Given the description of an element on the screen output the (x, y) to click on. 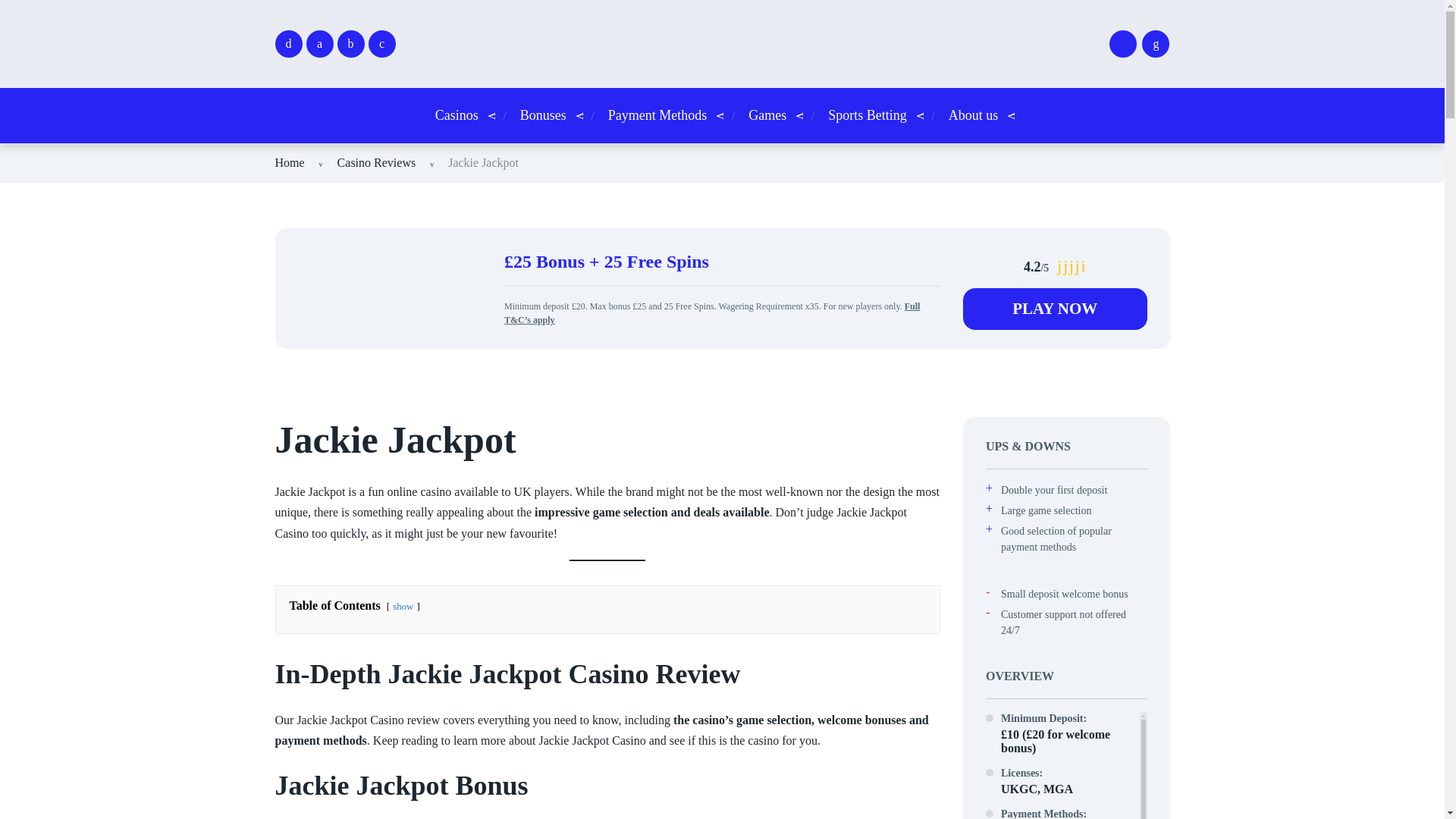
Bonuses (542, 115)
Jackie Jackpot (483, 162)
Home (289, 162)
Games (767, 115)
Casino Reviews (376, 162)
Casinos (457, 115)
Payment Methods (657, 115)
